Given the description of an element on the screen output the (x, y) to click on. 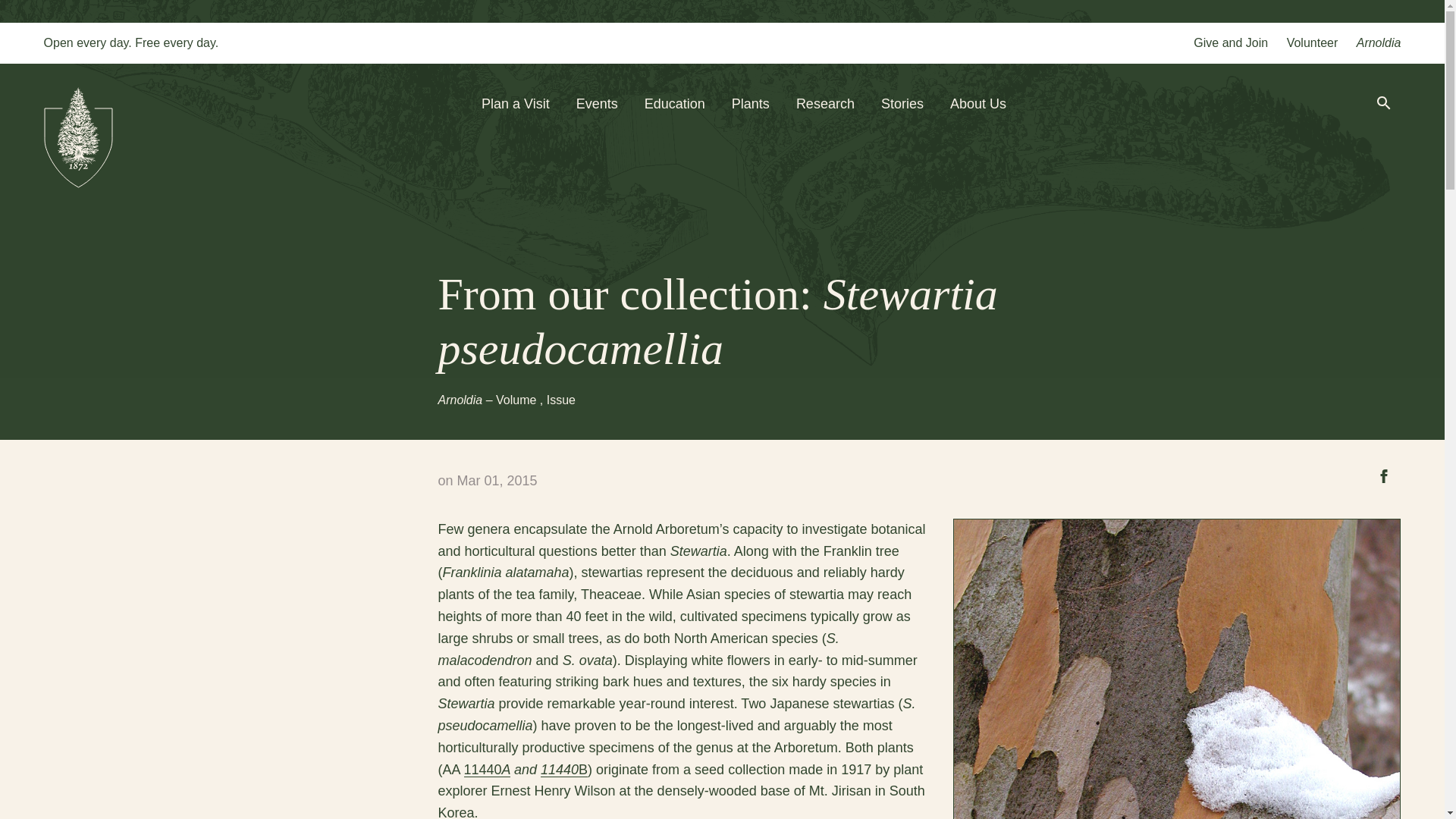
Events (596, 103)
Arnoldia (462, 399)
Stories (901, 103)
11440B (564, 769)
Arnoldia (1378, 42)
Volume , Issue (535, 399)
Research (825, 103)
11440A (487, 769)
Share on Facebook (1383, 475)
